Given the description of an element on the screen output the (x, y) to click on. 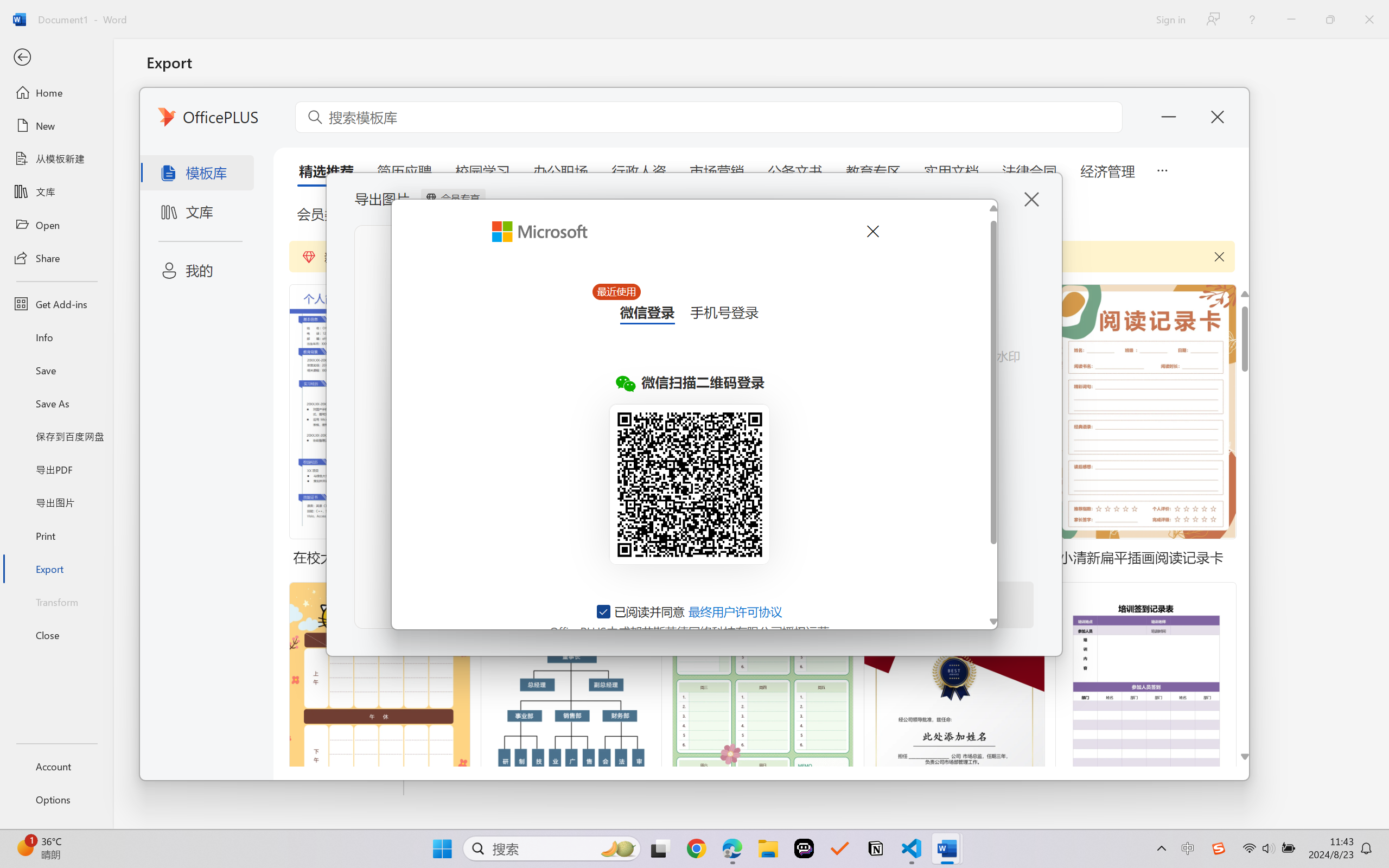
New (56, 125)
Info (56, 337)
Export (56, 568)
